Given the description of an element on the screen output the (x, y) to click on. 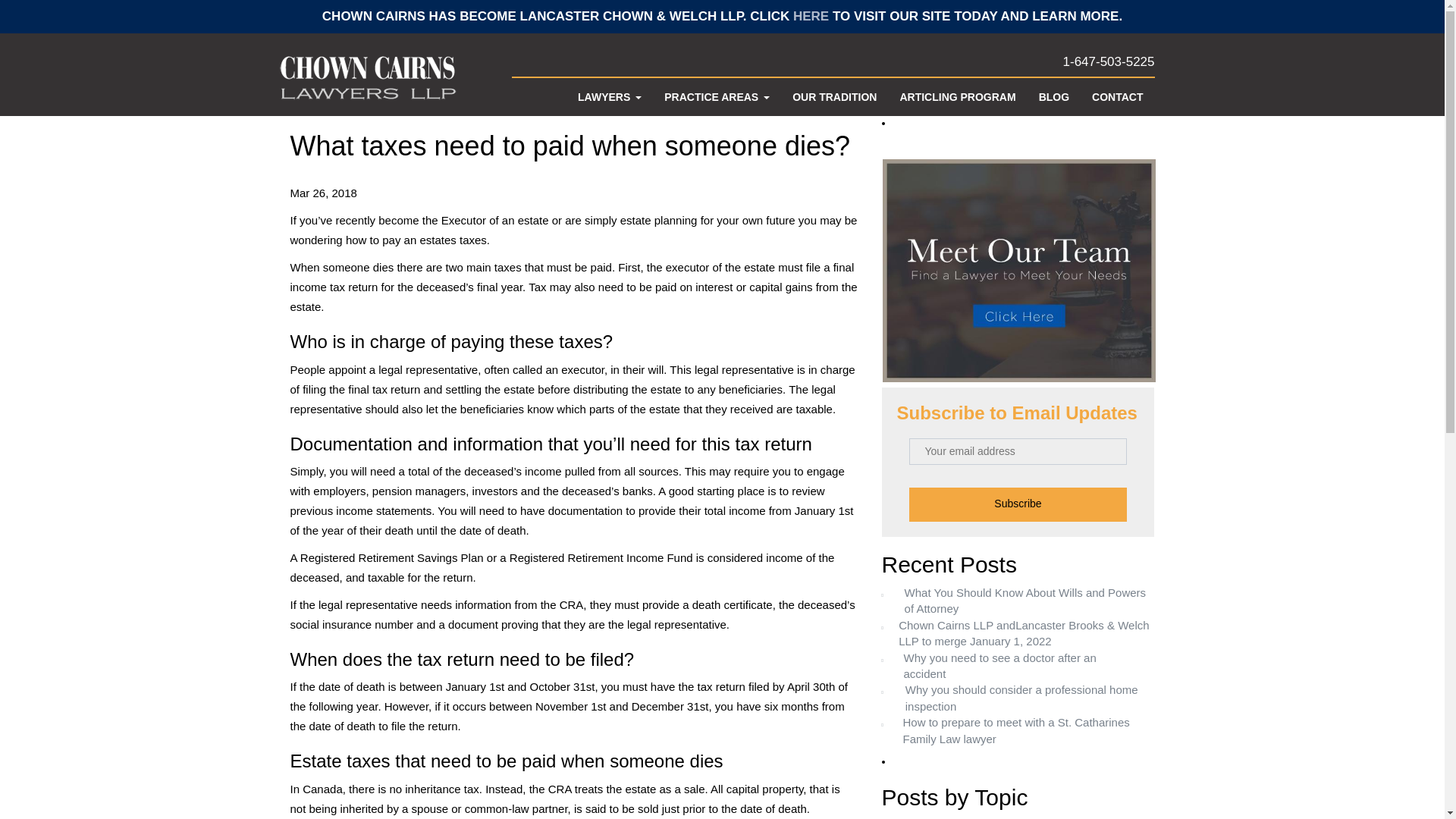
1-647-503-5225 (833, 62)
Subscribe (1017, 504)
Our Tradition (834, 96)
Lawyers (609, 96)
HERE (810, 16)
CONTACT (1117, 96)
LAWYERS (609, 96)
Articling Program (957, 96)
OUR TRADITION (834, 96)
What You Should Know About Wills and Powers of Attorney (1017, 600)
Subscribe (1017, 504)
Why you should consider a professional home inspection (1017, 697)
Practice Areas (716, 96)
BLOG (1053, 96)
